Given the description of an element on the screen output the (x, y) to click on. 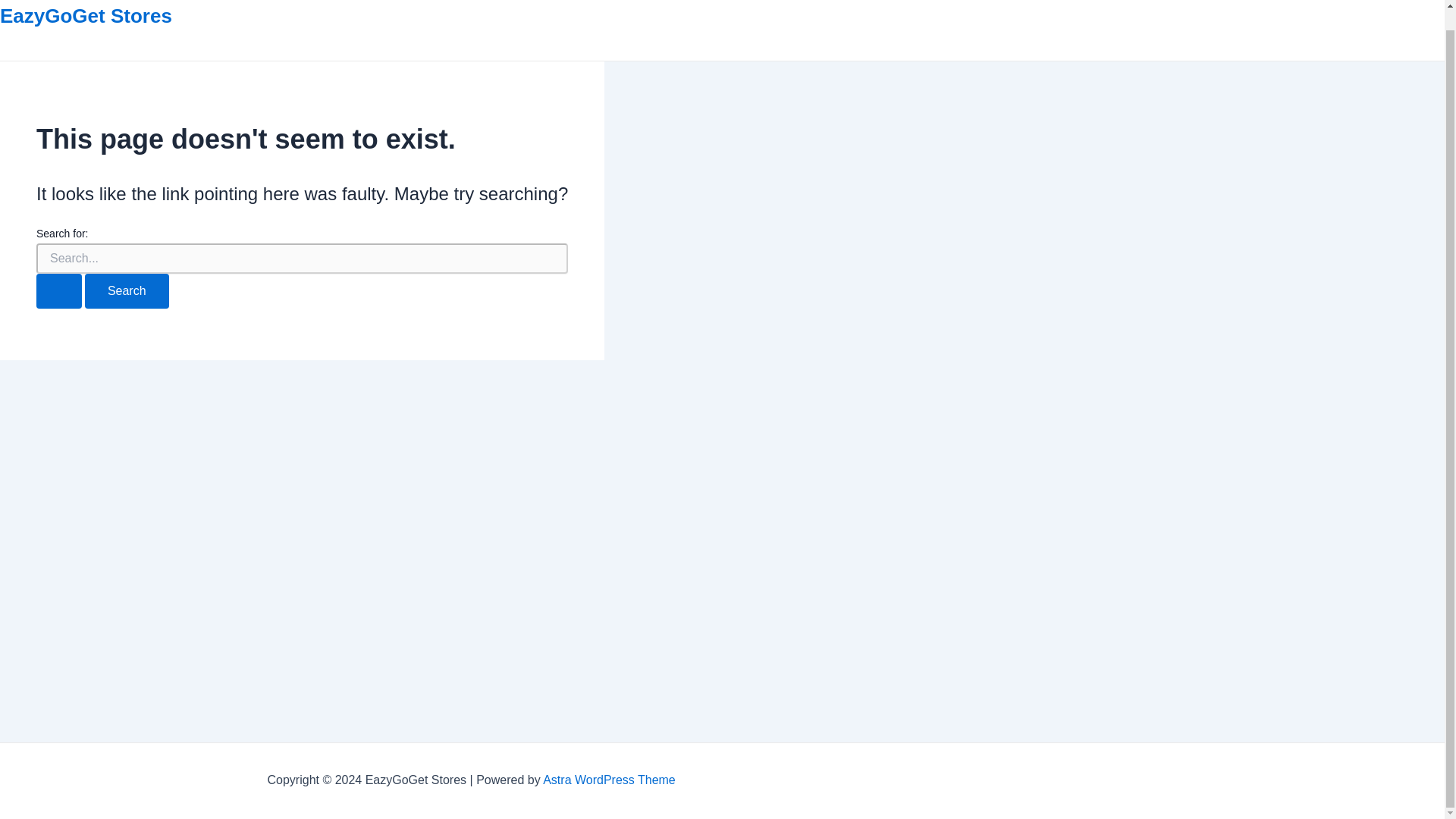
Search (126, 290)
Search (126, 290)
Search (126, 290)
Astra WordPress Theme (609, 779)
EazyGoGet Stores (85, 15)
